Given the description of an element on the screen output the (x, y) to click on. 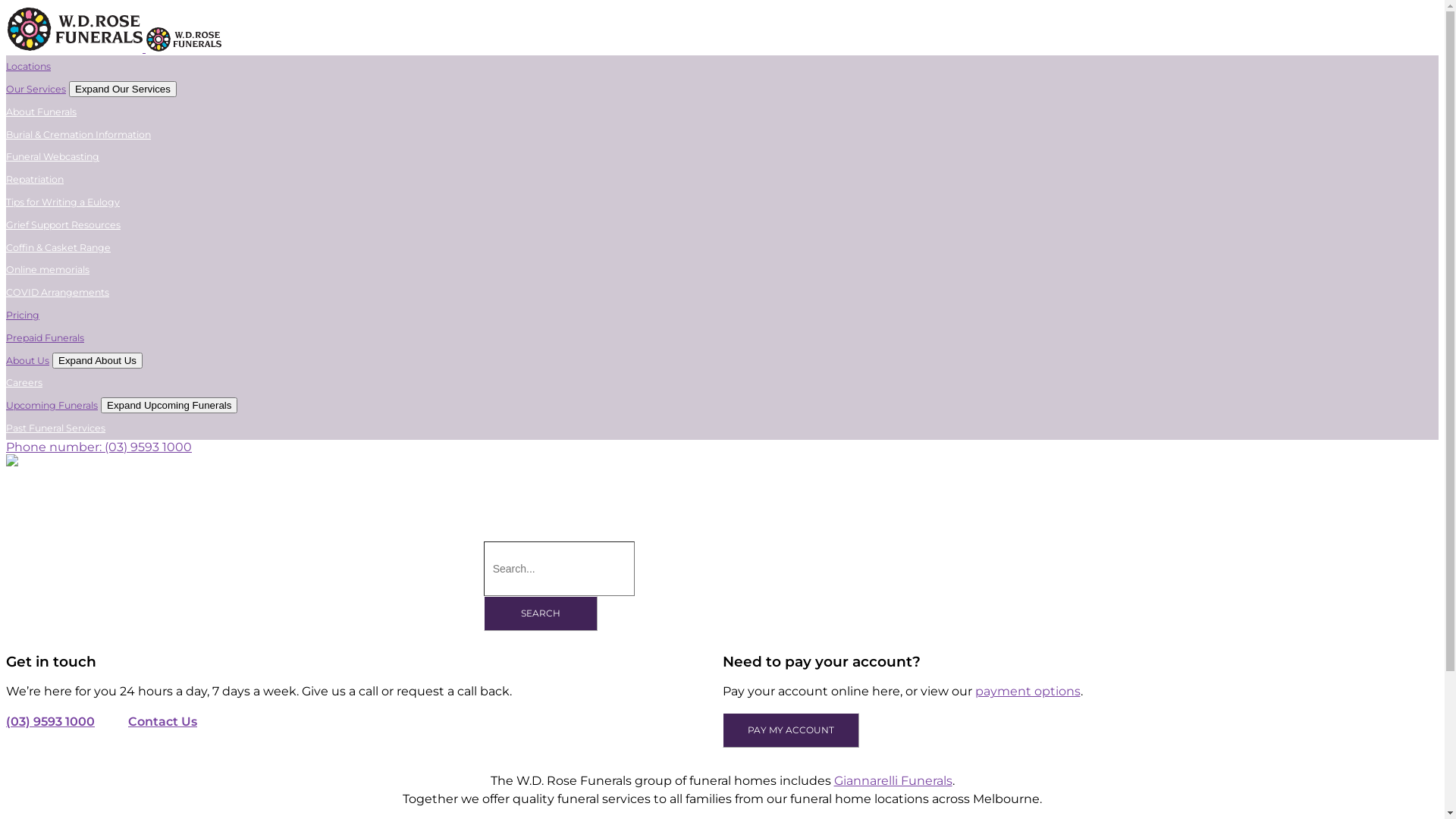
Phone number: (03) 9593 1000 Element type: text (98, 446)
Expand Our Services Element type: text (122, 89)
Pricing Element type: text (22, 314)
Burial & Cremation Information Element type: text (78, 134)
(03) 9593 1000 Element type: text (50, 721)
Giannarelli Funerals Element type: text (893, 780)
Tips for Writing a Eulogy Element type: text (62, 201)
Funeral Webcasting Element type: text (52, 156)
Our Services Element type: text (35, 88)
Contact Us Element type: text (162, 721)
About Funerals Element type: text (41, 111)
About Us Element type: text (27, 360)
Careers Element type: text (24, 382)
COVID Arrangements Element type: text (57, 292)
Grief Support Resources Element type: text (63, 224)
Past Funeral Services Element type: text (55, 427)
Locations Element type: text (28, 66)
Online memorials Element type: text (47, 269)
Prepaid Funerals Element type: text (45, 337)
payment options Element type: text (1027, 691)
Upcoming Funerals Element type: text (51, 405)
Expand About Us Element type: text (97, 360)
SEARCH Element type: text (540, 613)
PAY MY ACCOUNT Element type: text (789, 729)
Coffin & Casket Range Element type: text (58, 247)
Expand Upcoming Funerals Element type: text (168, 405)
Repatriation Element type: text (34, 179)
